Given the description of an element on the screen output the (x, y) to click on. 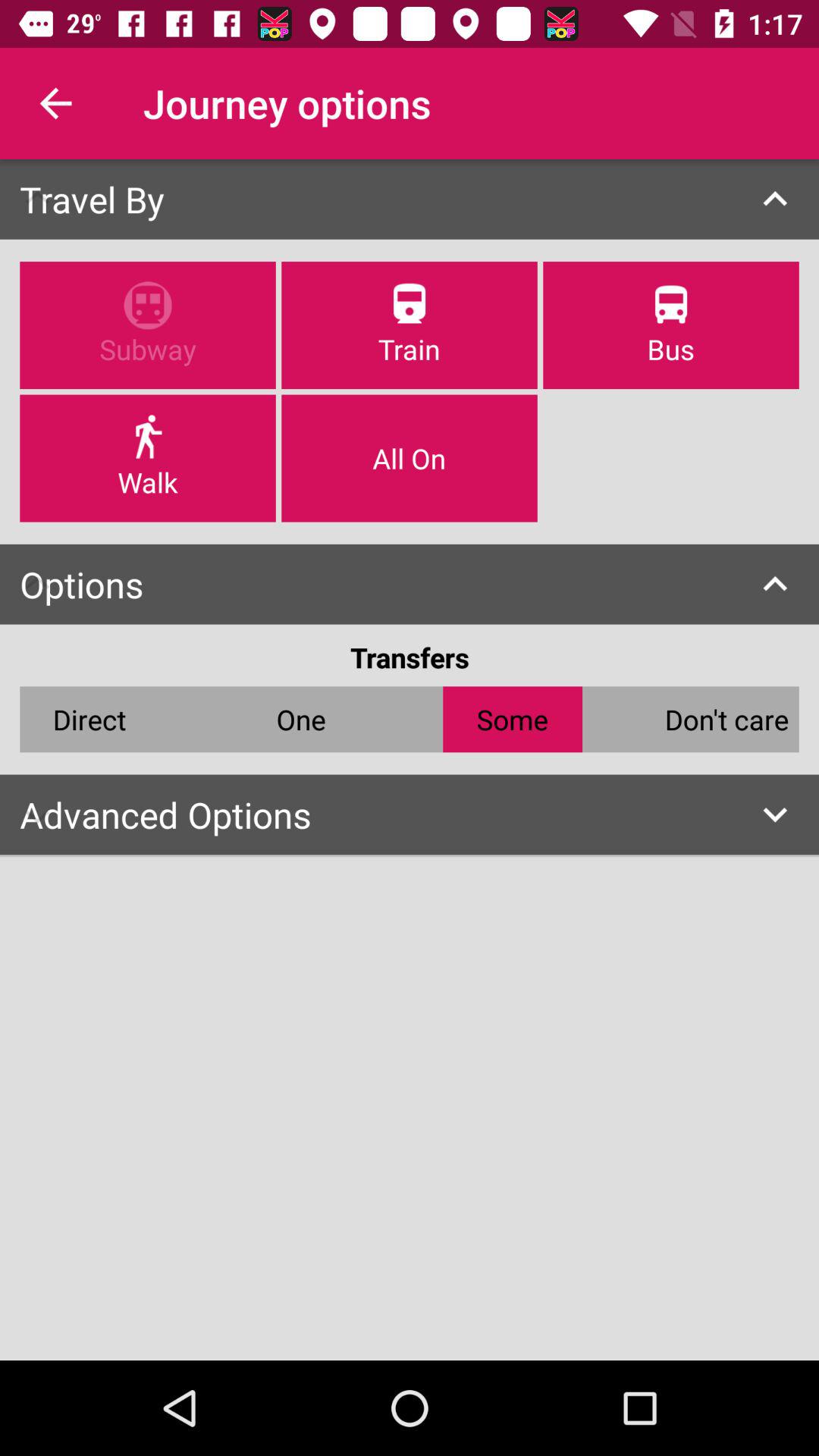
swipe to don't care (726, 719)
